Given the description of an element on the screen output the (x, y) to click on. 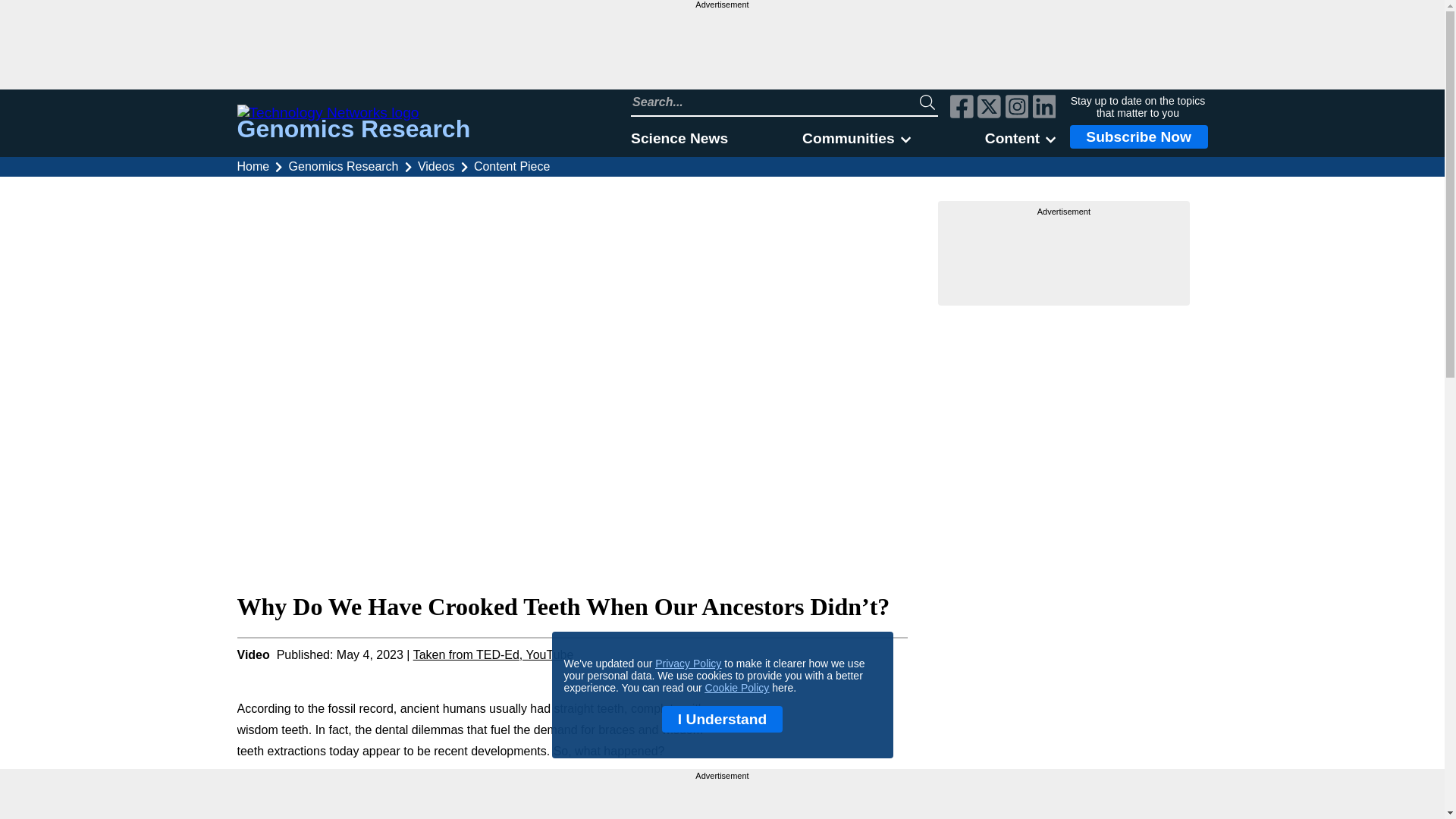
Click here to visit the original source for this content. (493, 654)
Search Technology Networks website input field (775, 102)
I Understand (722, 718)
Privacy Policy (687, 663)
Cookie Policy (737, 687)
Technology Networks logo (352, 112)
